Given the description of an element on the screen output the (x, y) to click on. 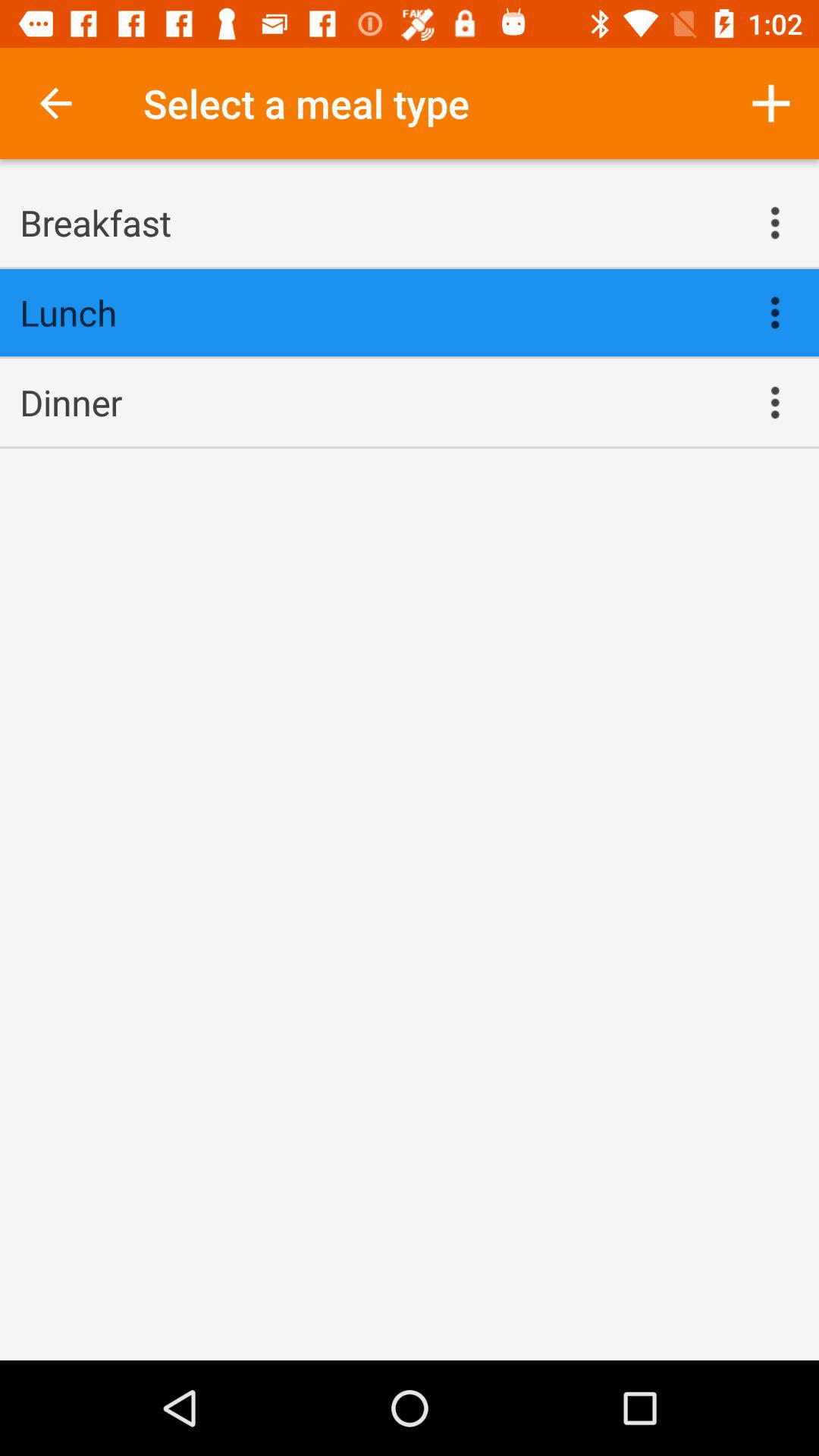
turn off the item next to the select a meal item (771, 103)
